Given the description of an element on the screen output the (x, y) to click on. 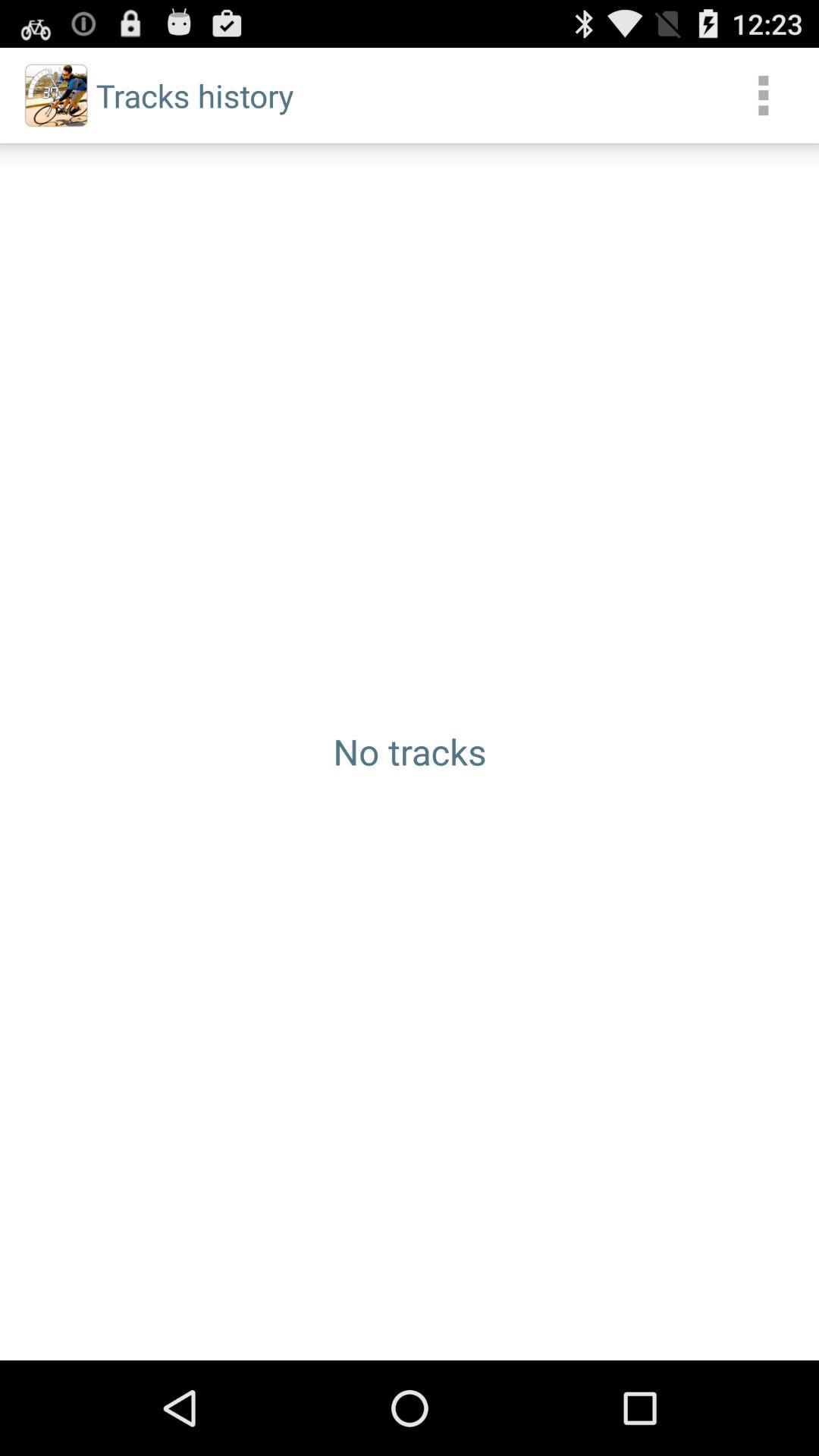
press item next to tracks history icon (763, 95)
